Given the description of an element on the screen output the (x, y) to click on. 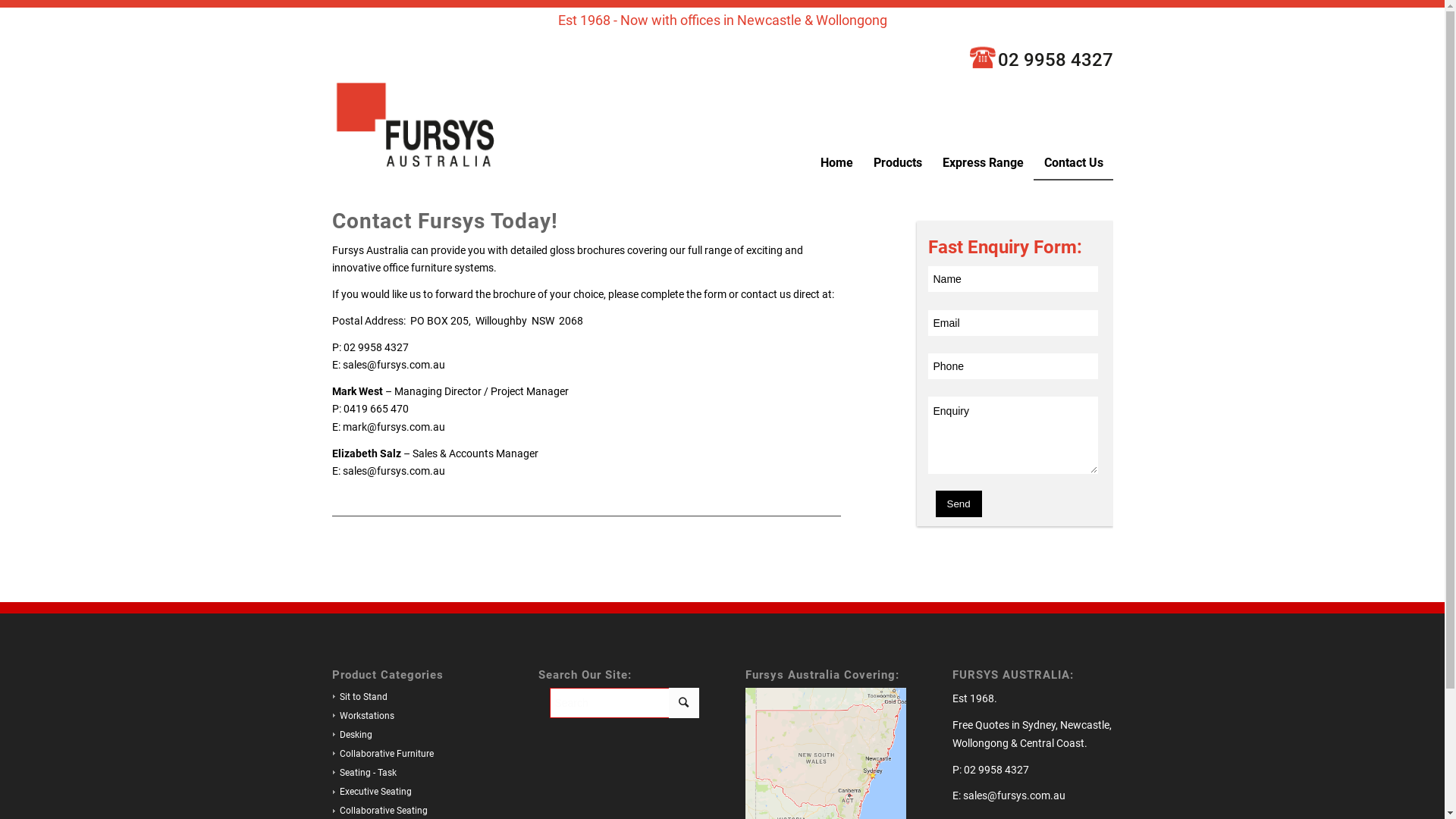
Express Range Element type: text (981, 162)
Workstations Element type: text (362, 715)
Home Element type: text (835, 162)
Contact Us Element type: text (1072, 162)
Executive Seating Element type: text (371, 791)
Send Element type: text (958, 503)
Seating - Task Element type: text (363, 772)
Collaborative Seating Element type: text (379, 810)
Products Element type: text (896, 162)
Sit to Stand Element type: text (359, 696)
Desking Element type: text (351, 734)
Collaborative Furniture Element type: text (382, 753)
